Given the description of an element on the screen output the (x, y) to click on. 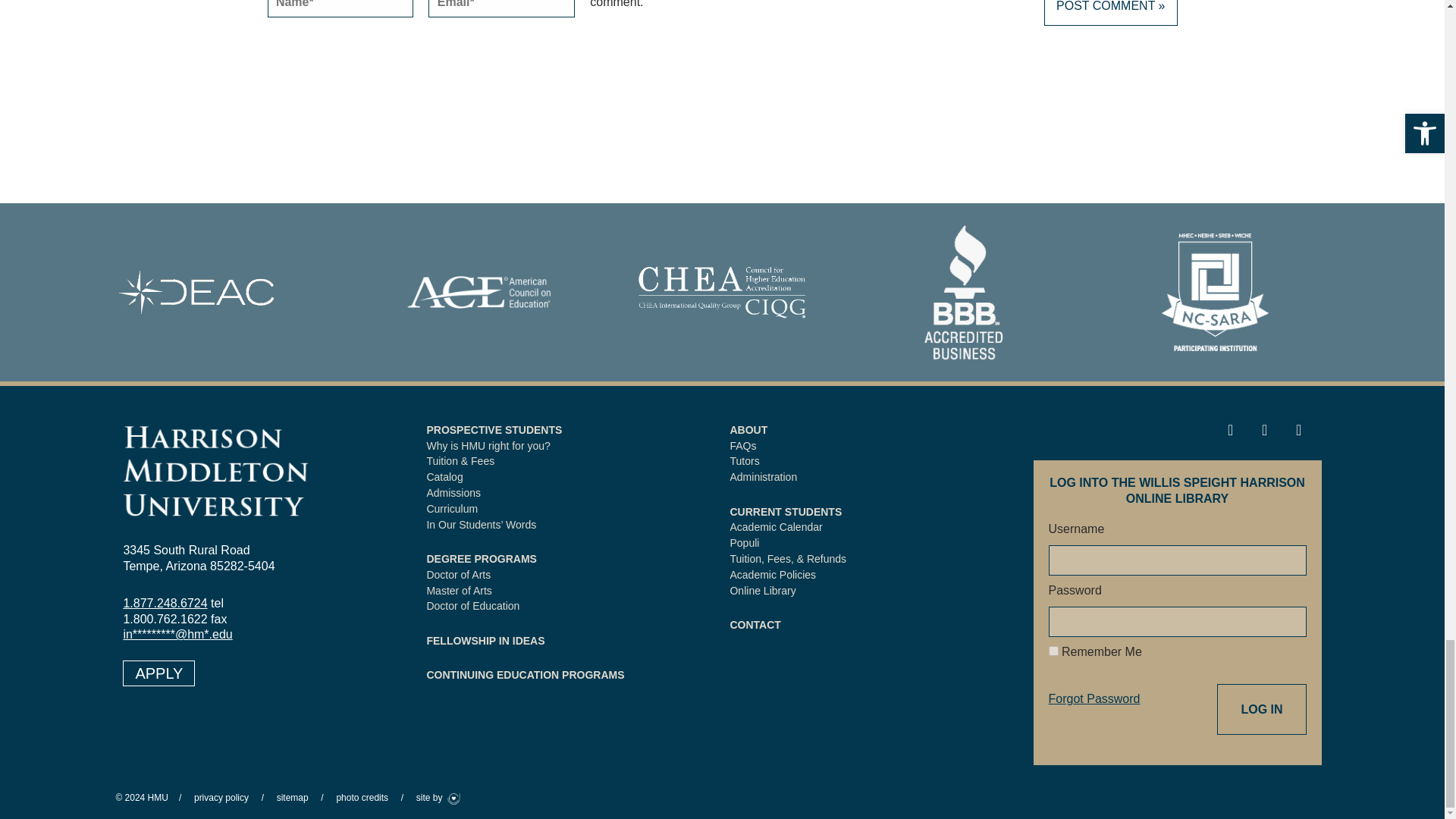
forever (1053, 651)
Log In (1261, 709)
